Given the description of an element on the screen output the (x, y) to click on. 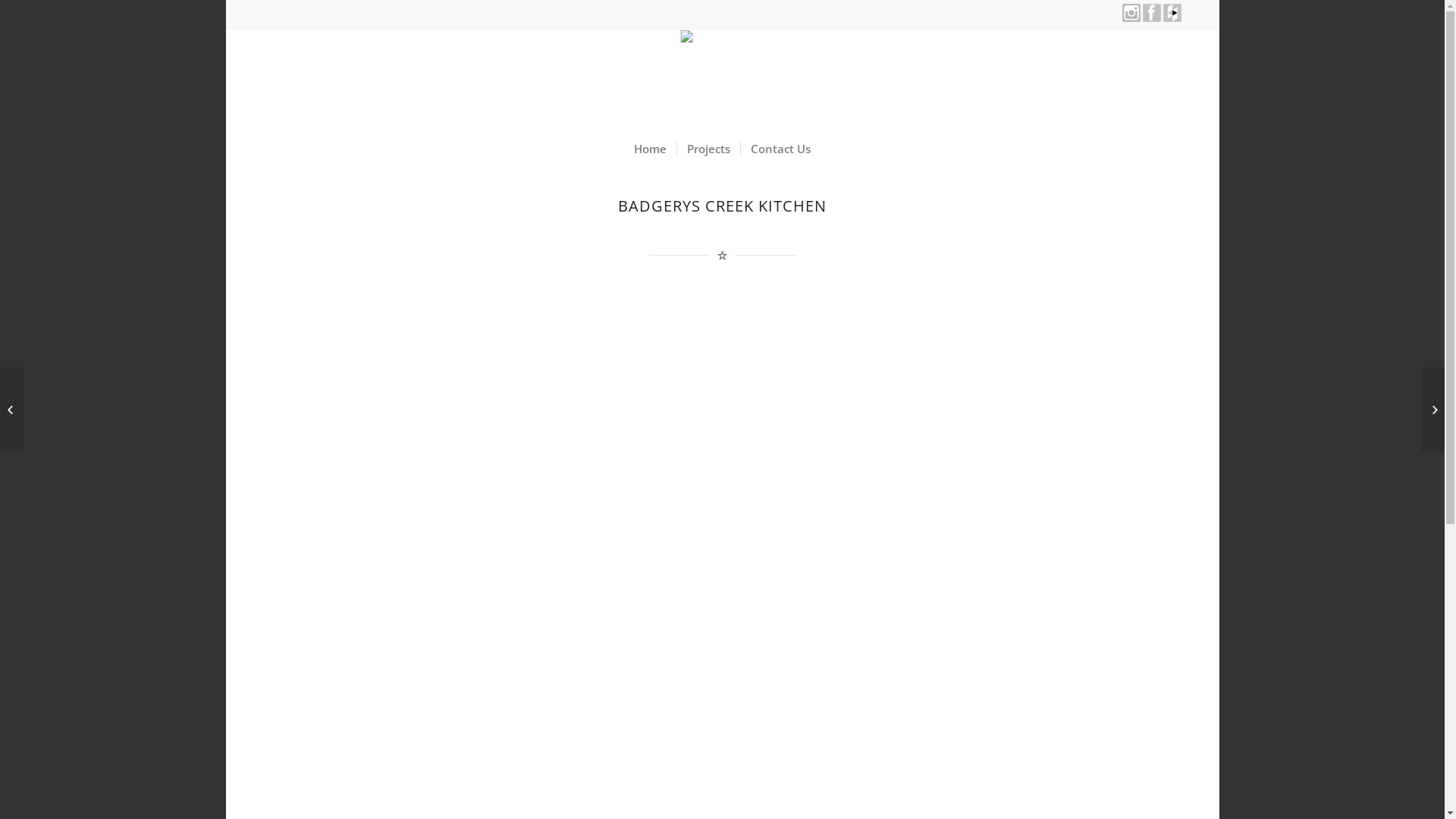
Projects Element type: text (708, 148)
Contact Us Element type: text (780, 148)
Home Element type: text (650, 148)
